Given the description of an element on the screen output the (x, y) to click on. 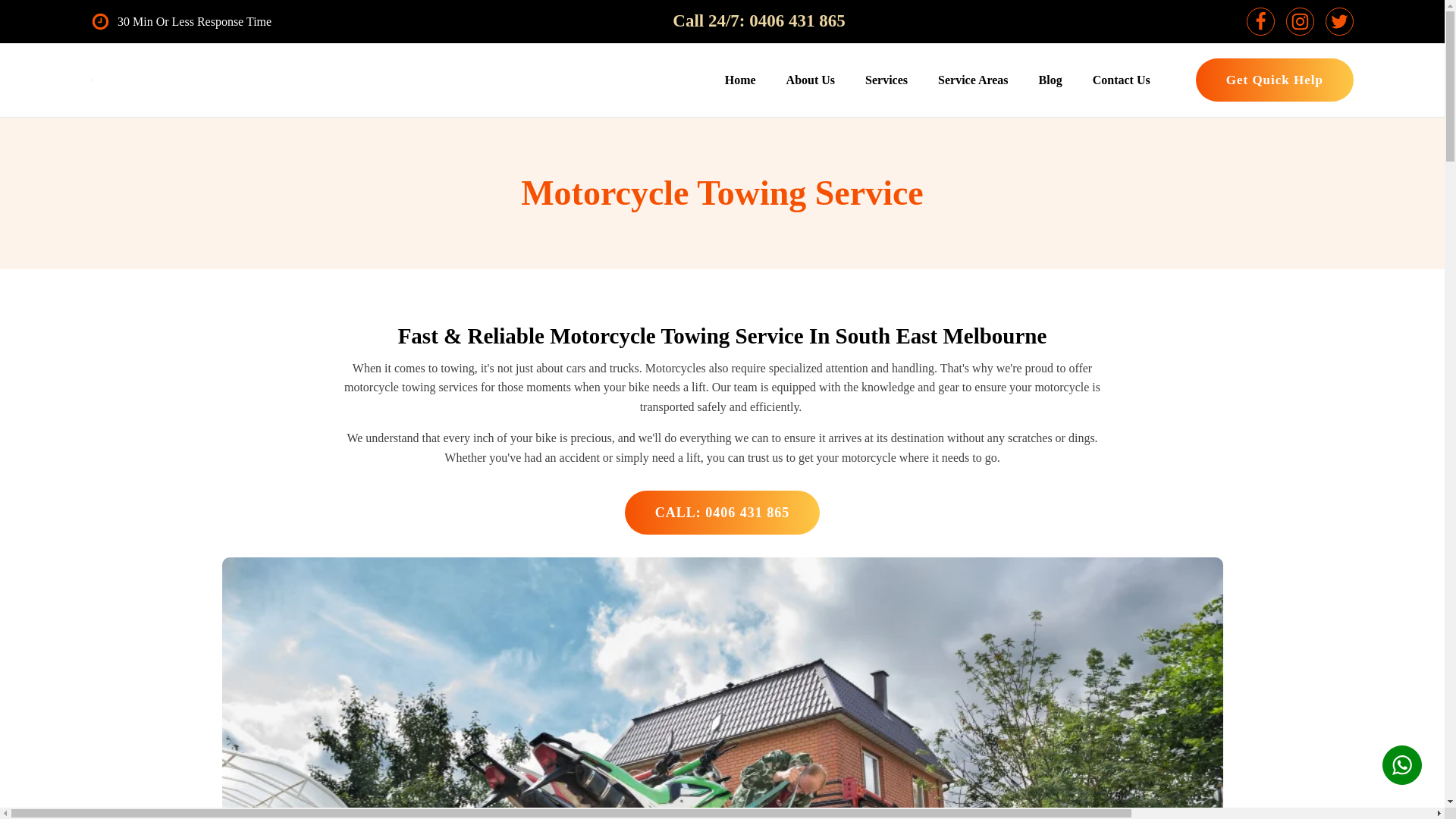
Get Quick Help (1274, 79)
Services (886, 79)
Blog (1050, 79)
Home (740, 79)
CALL: 0406 431 865 (722, 512)
About Us (810, 79)
Service Areas (973, 79)
Contact Us (1121, 79)
